Given the description of an element on the screen output the (x, y) to click on. 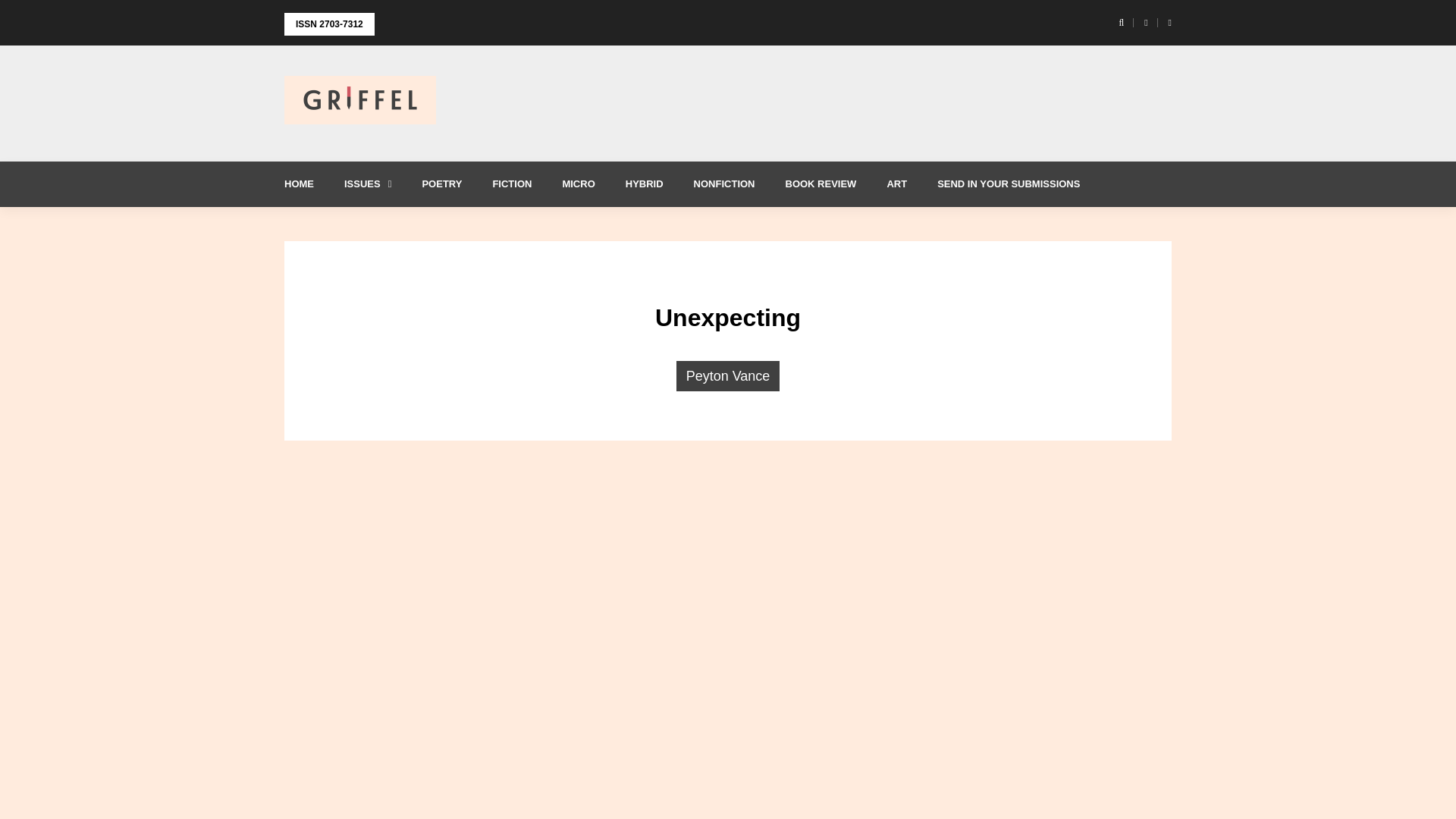
NONFICTION (724, 184)
Fiction (512, 184)
Art (895, 184)
POETRY (441, 184)
Issues (367, 184)
FICTION (512, 184)
MICRO (578, 184)
Send in your Submissions (1007, 184)
ISSN 2703-7312 (328, 24)
BOOK REVIEW (821, 184)
